Given the description of an element on the screen output the (x, y) to click on. 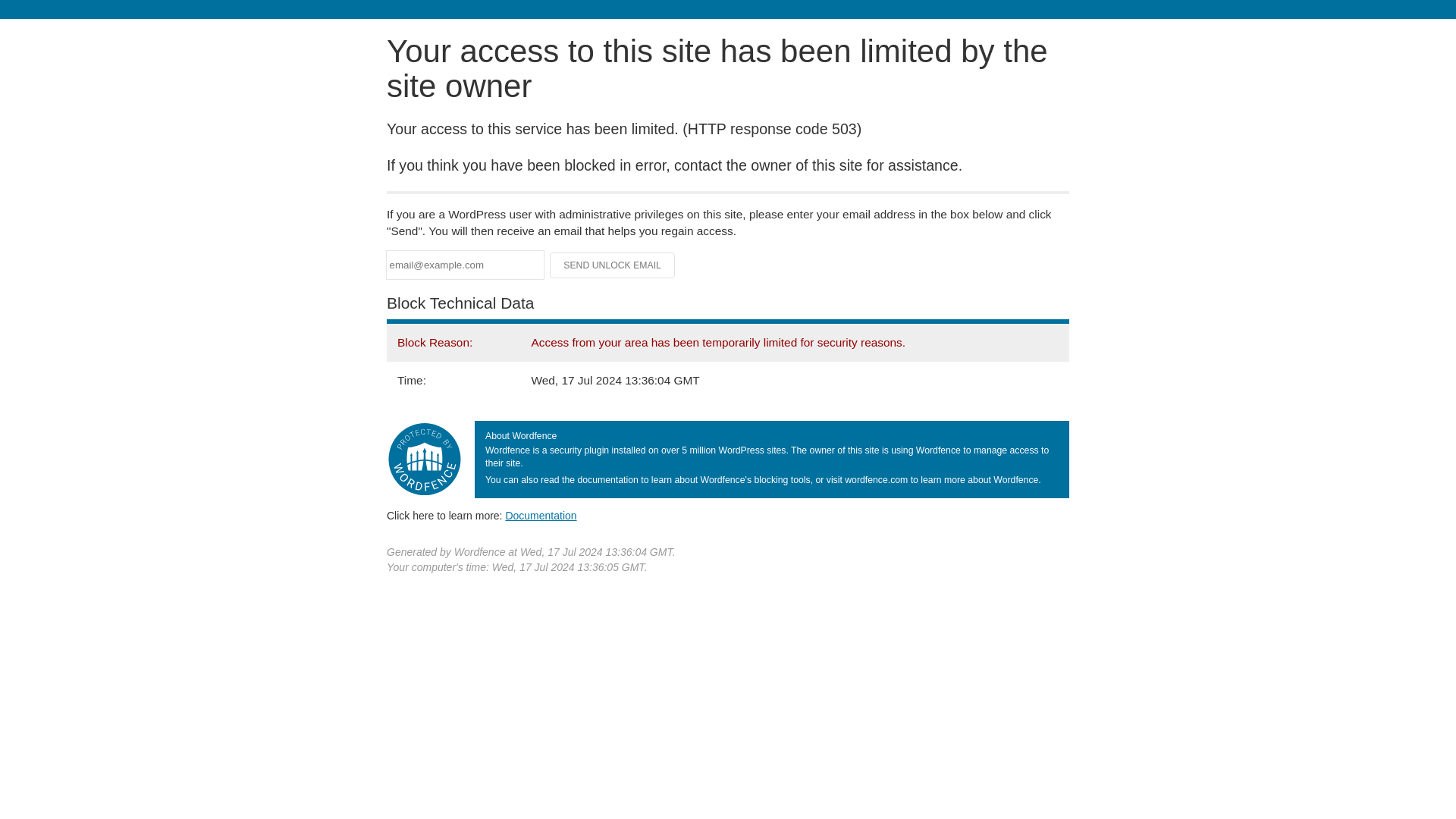
Send Unlock Email (612, 265)
Documentation (540, 515)
Send Unlock Email (612, 265)
